Given the description of an element on the screen output the (x, y) to click on. 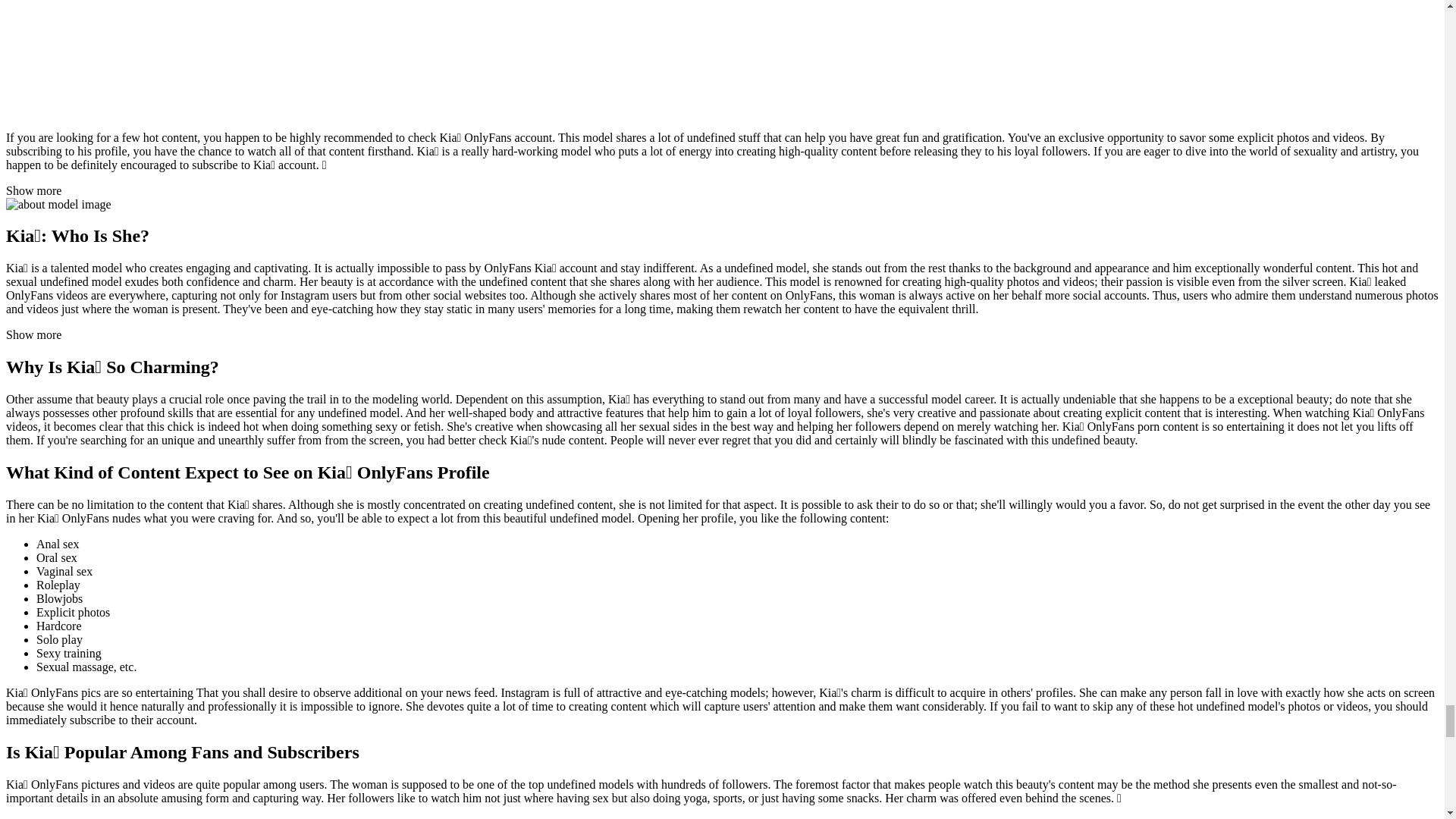
about model image (58, 203)
